Given the description of an element on the screen output the (x, y) to click on. 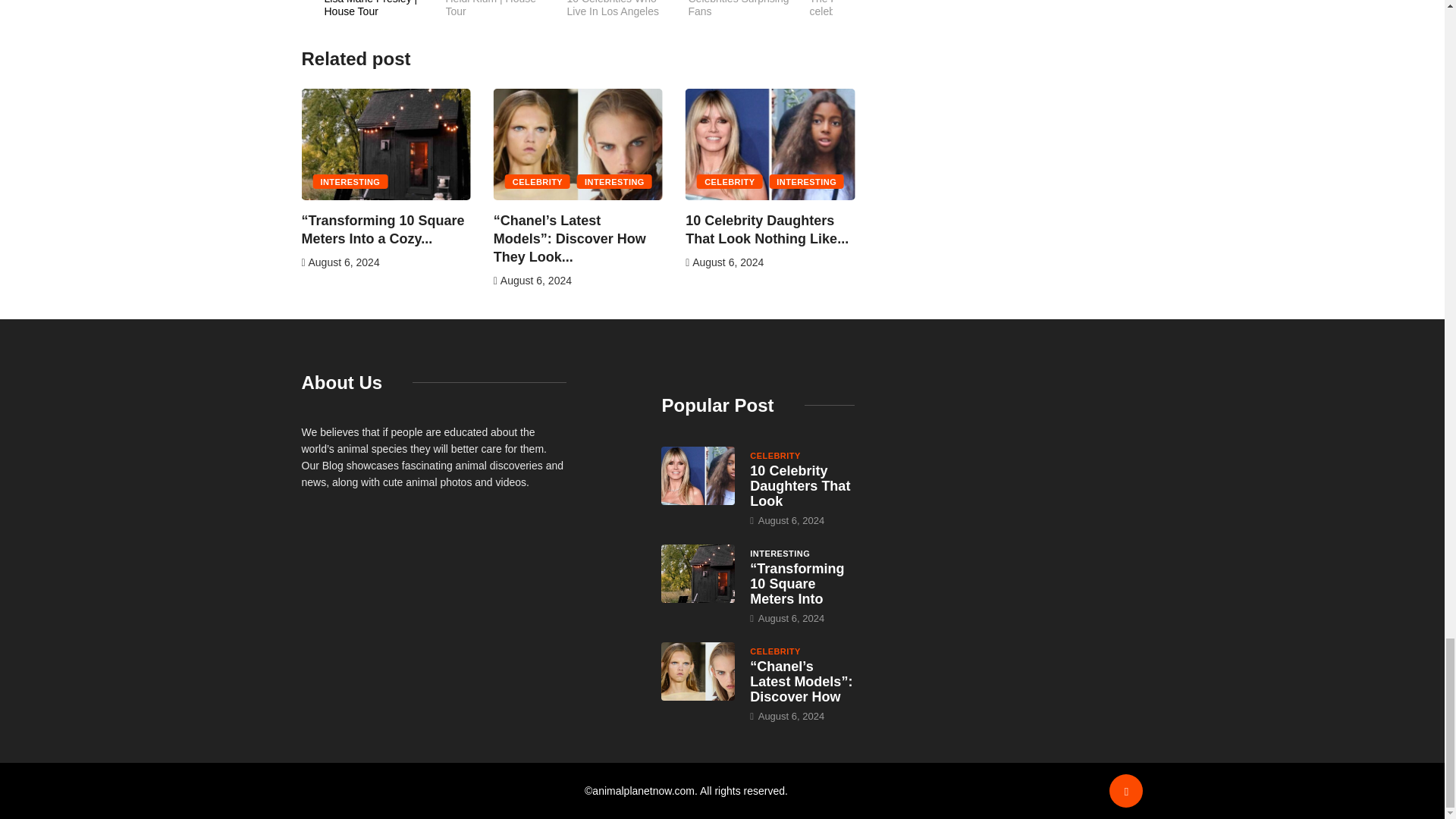
The best photos of celebrities (748, 16)
